Given the description of an element on the screen output the (x, y) to click on. 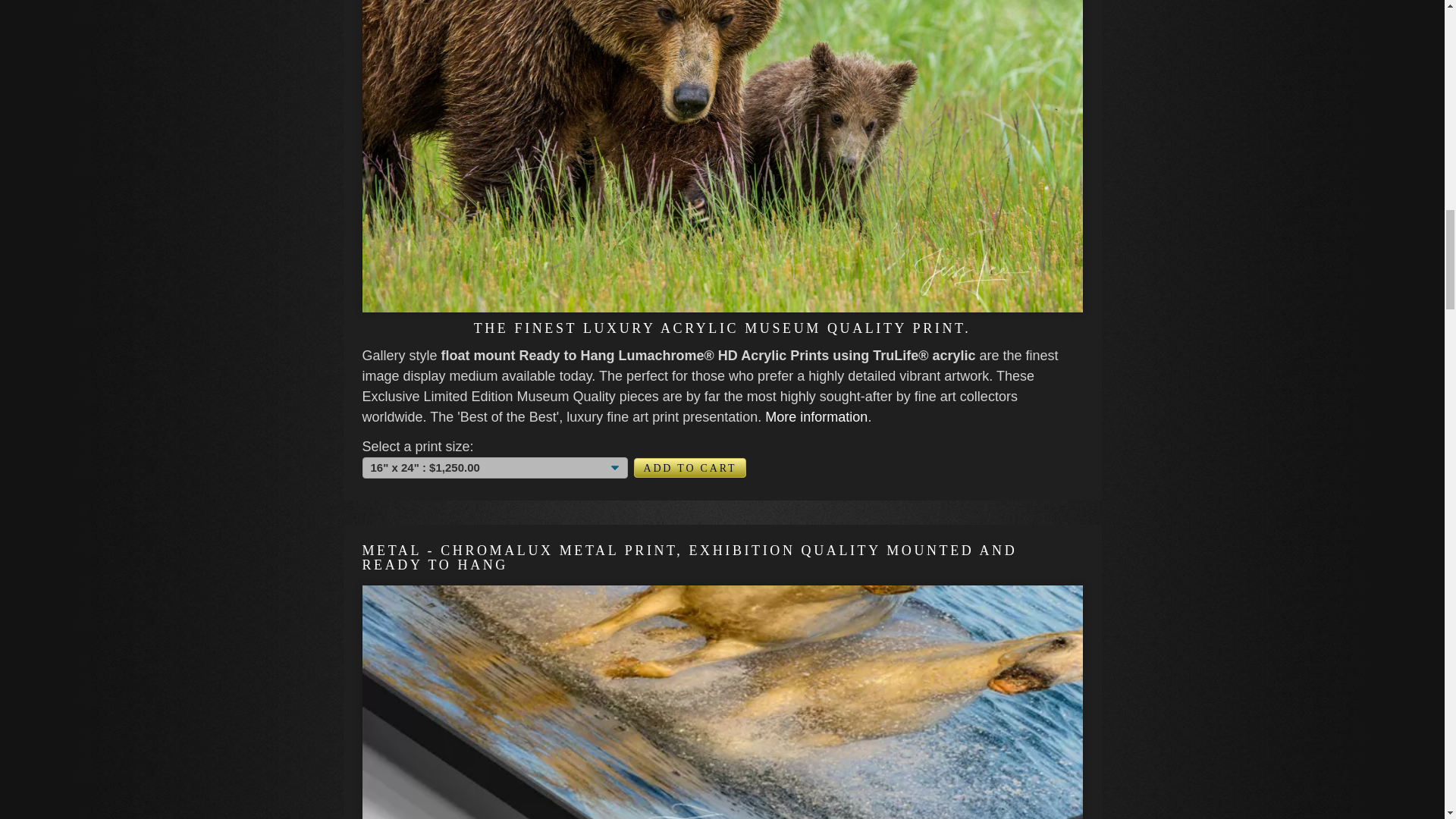
More information (816, 417)
ADD TO CART (689, 467)
